Given the description of an element on the screen output the (x, y) to click on. 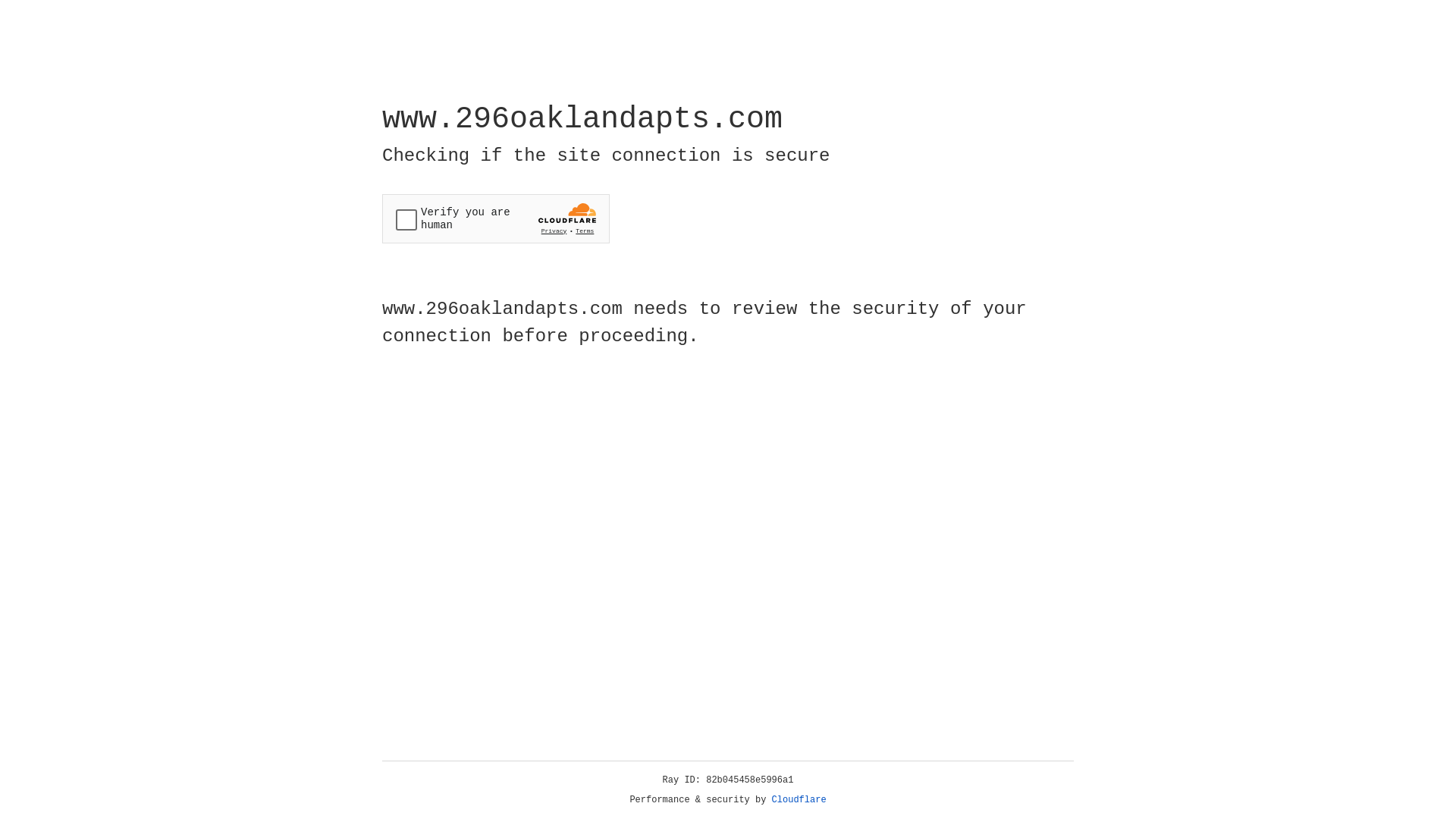
Cloudflare Element type: text (798, 799)
Widget containing a Cloudflare security challenge Element type: hover (495, 218)
